Given the description of an element on the screen output the (x, y) to click on. 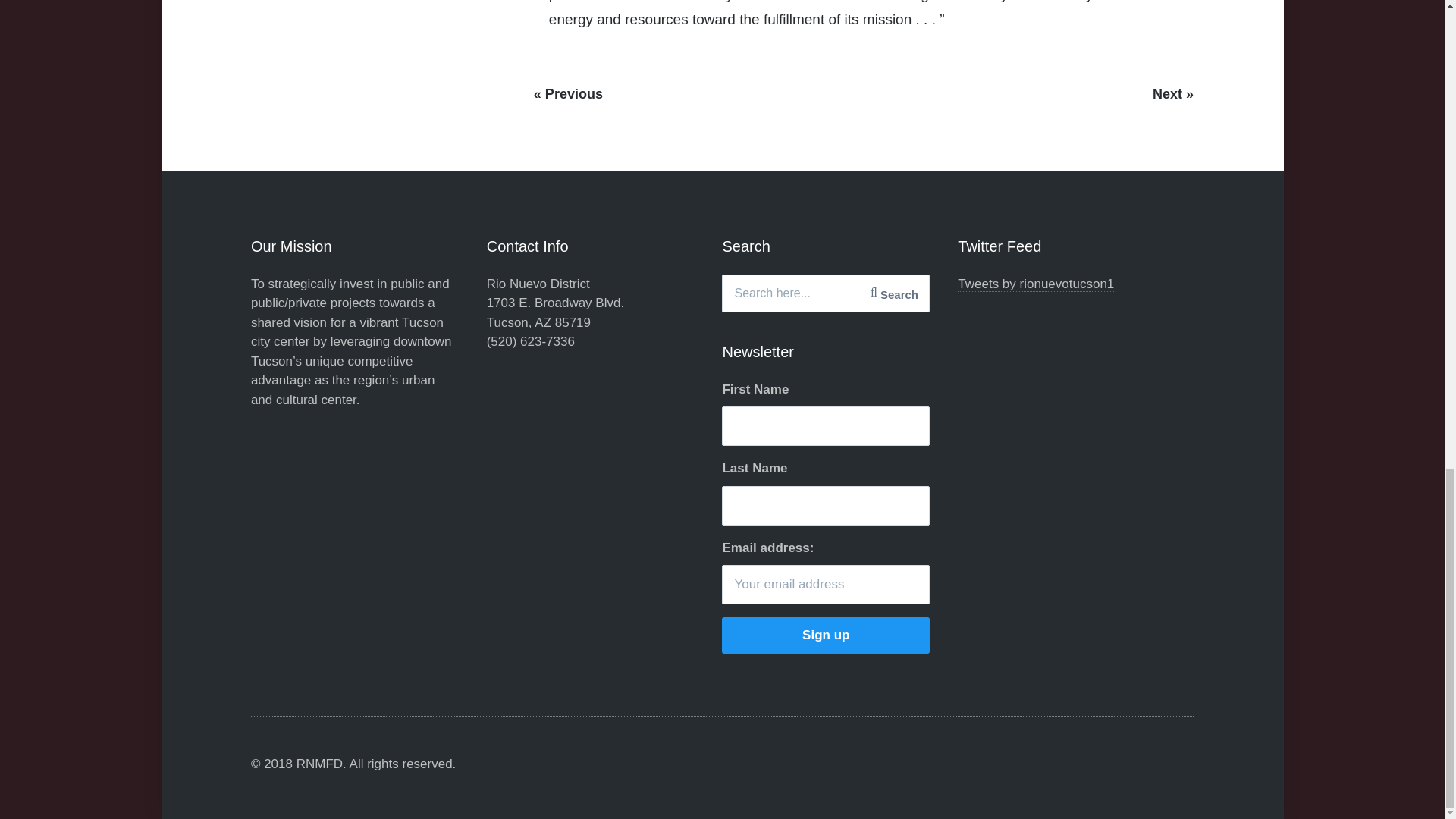
Sign up (826, 635)
